Given the description of an element on the screen output the (x, y) to click on. 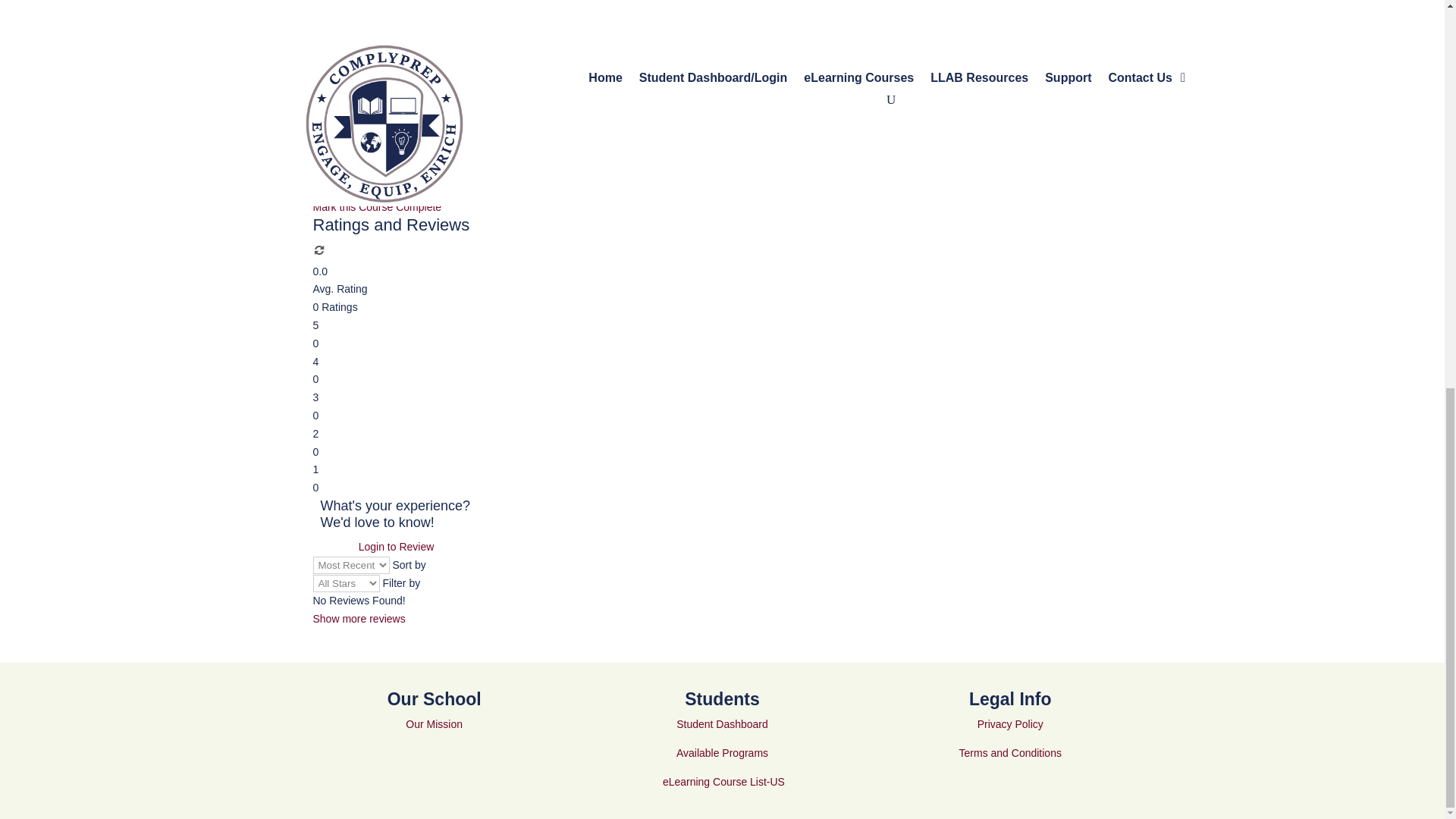
Our Mission (434, 724)
Show more reviews (358, 618)
Privacy Policy (1009, 724)
Available Programs (722, 752)
0 (322, 253)
Mark this Course Complete (722, 198)
Terms and Conditions (1010, 752)
Login to Review (395, 547)
eLearning Course List-US (723, 781)
Student Dashboard (722, 724)
